Given the description of an element on the screen output the (x, y) to click on. 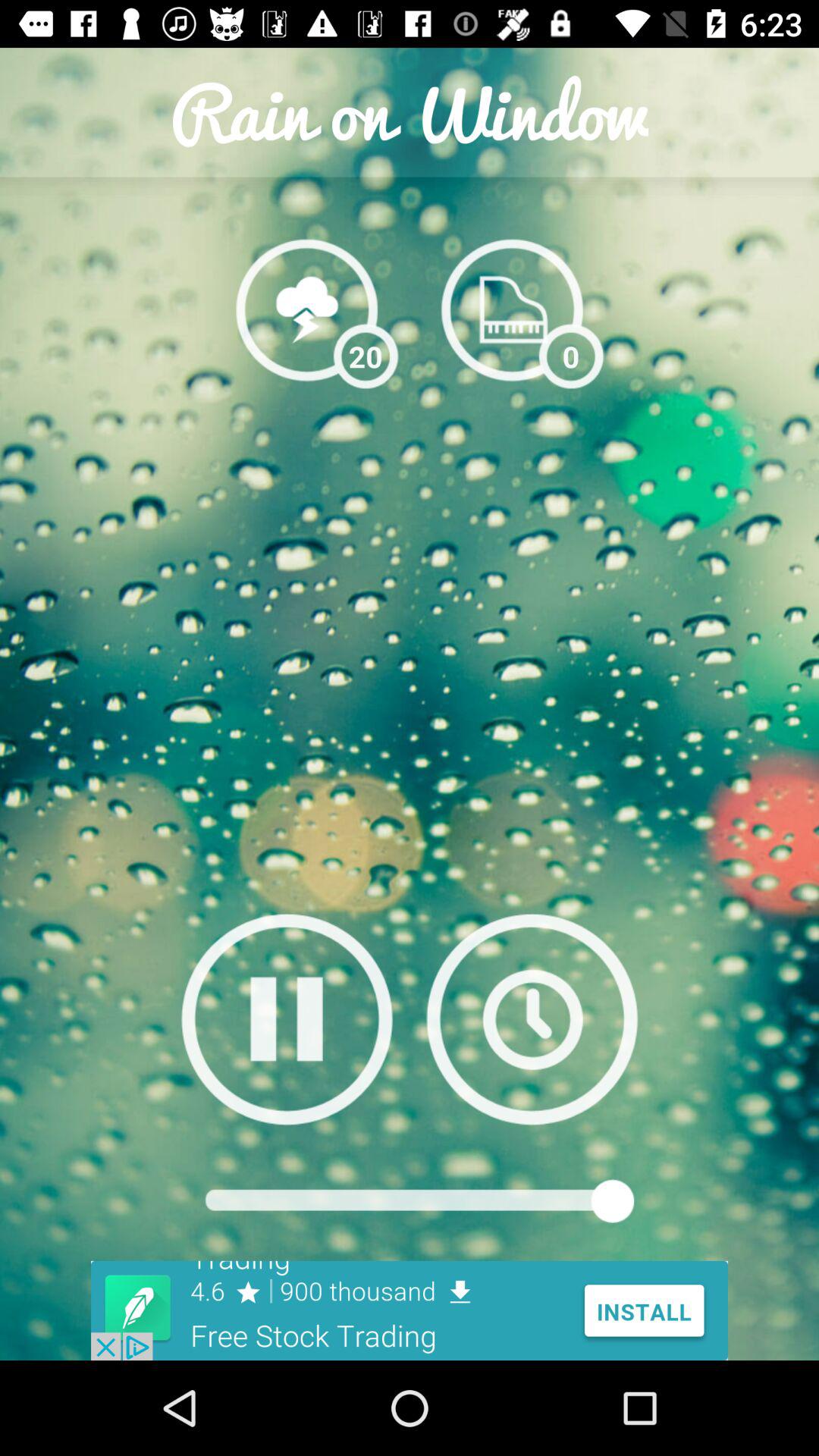
play the audio (286, 1018)
